Given the description of an element on the screen output the (x, y) to click on. 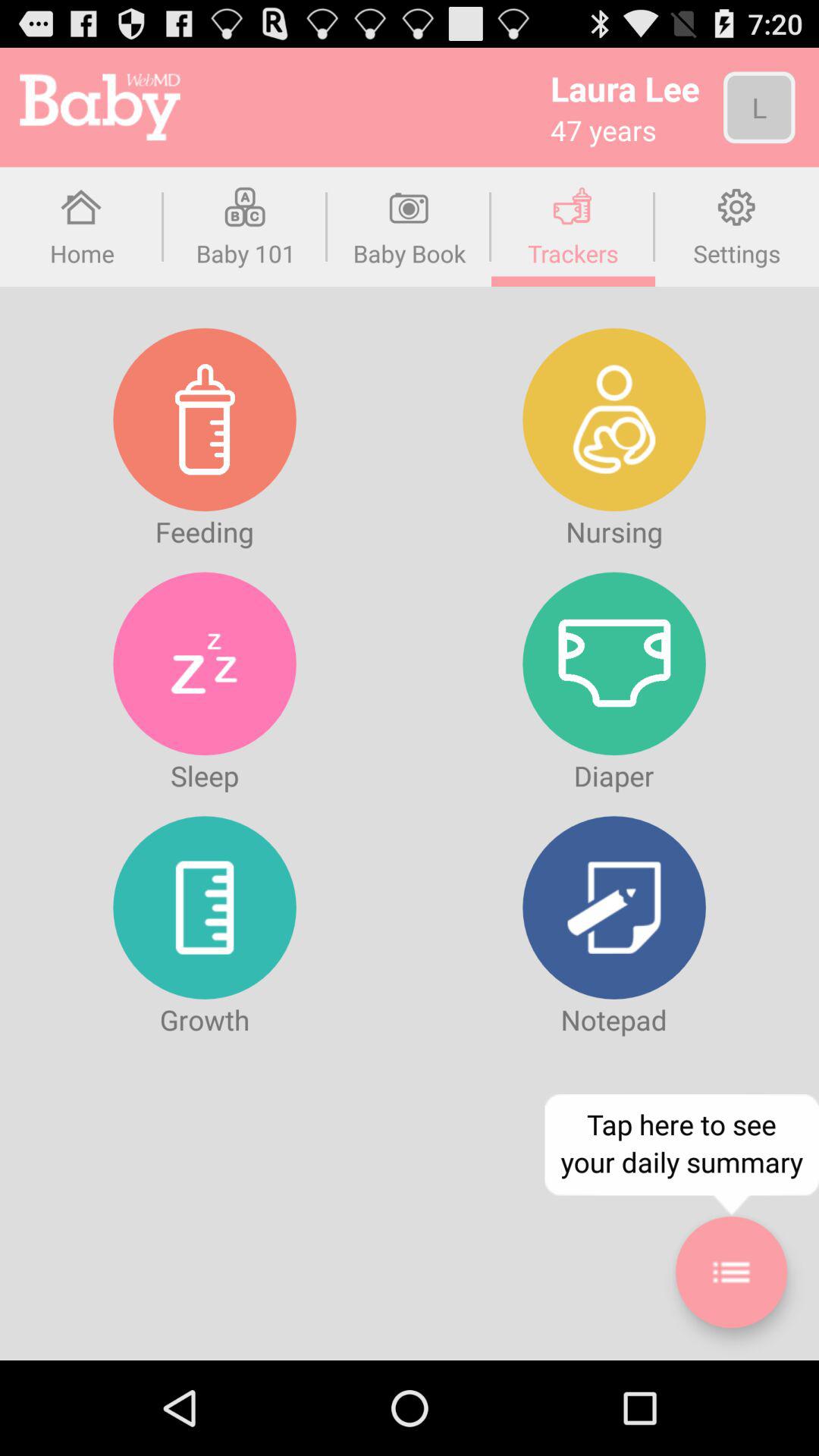
view summary (731, 1272)
